Given the description of an element on the screen output the (x, y) to click on. 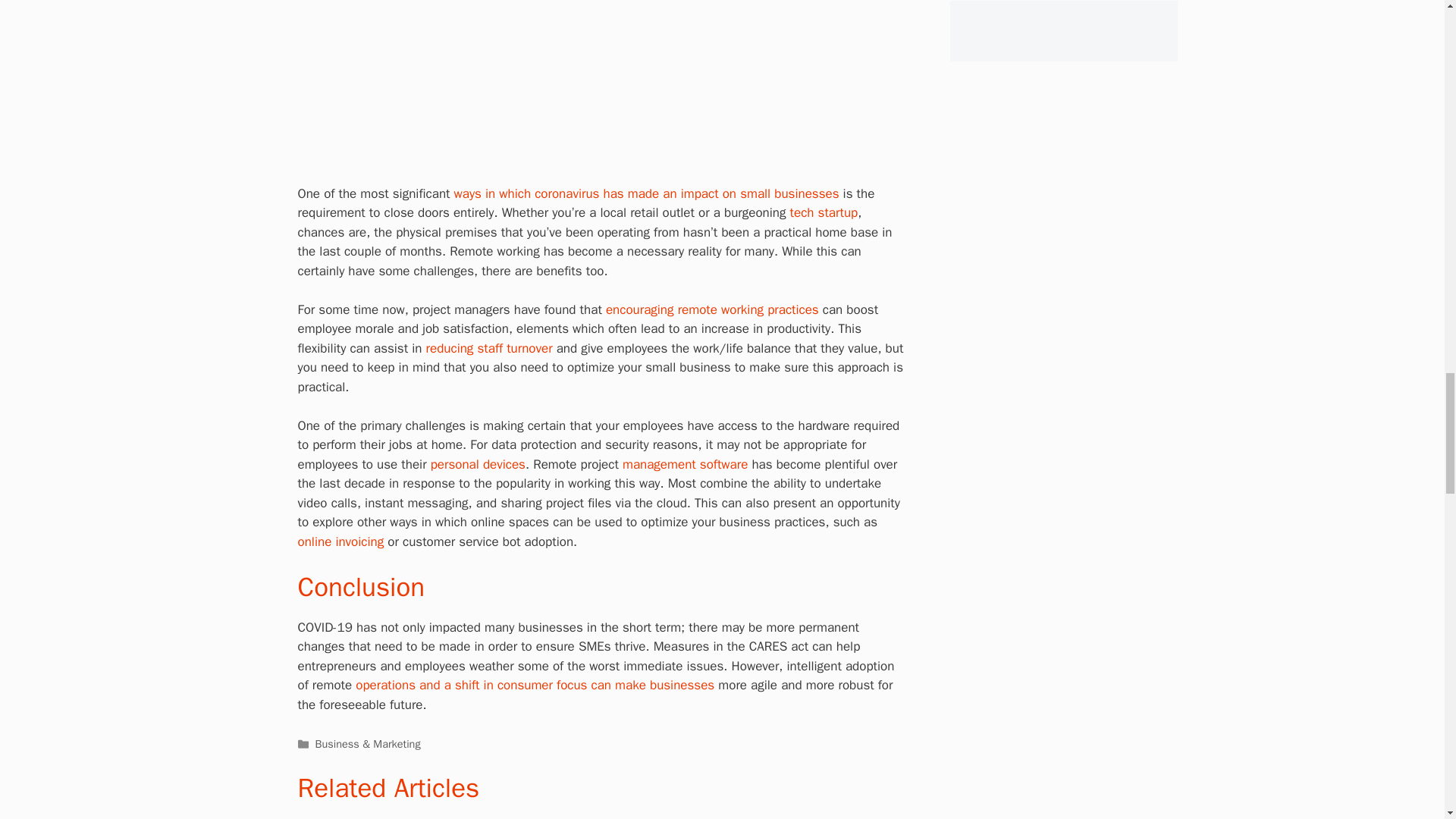
tech startup (824, 212)
operations and a shift in consumer focus can make businesses (534, 684)
encouraging remote working practices (713, 309)
management software (685, 464)
online invoicing (340, 541)
personal devices (477, 464)
reducing staff turnover (489, 348)
